Given the description of an element on the screen output the (x, y) to click on. 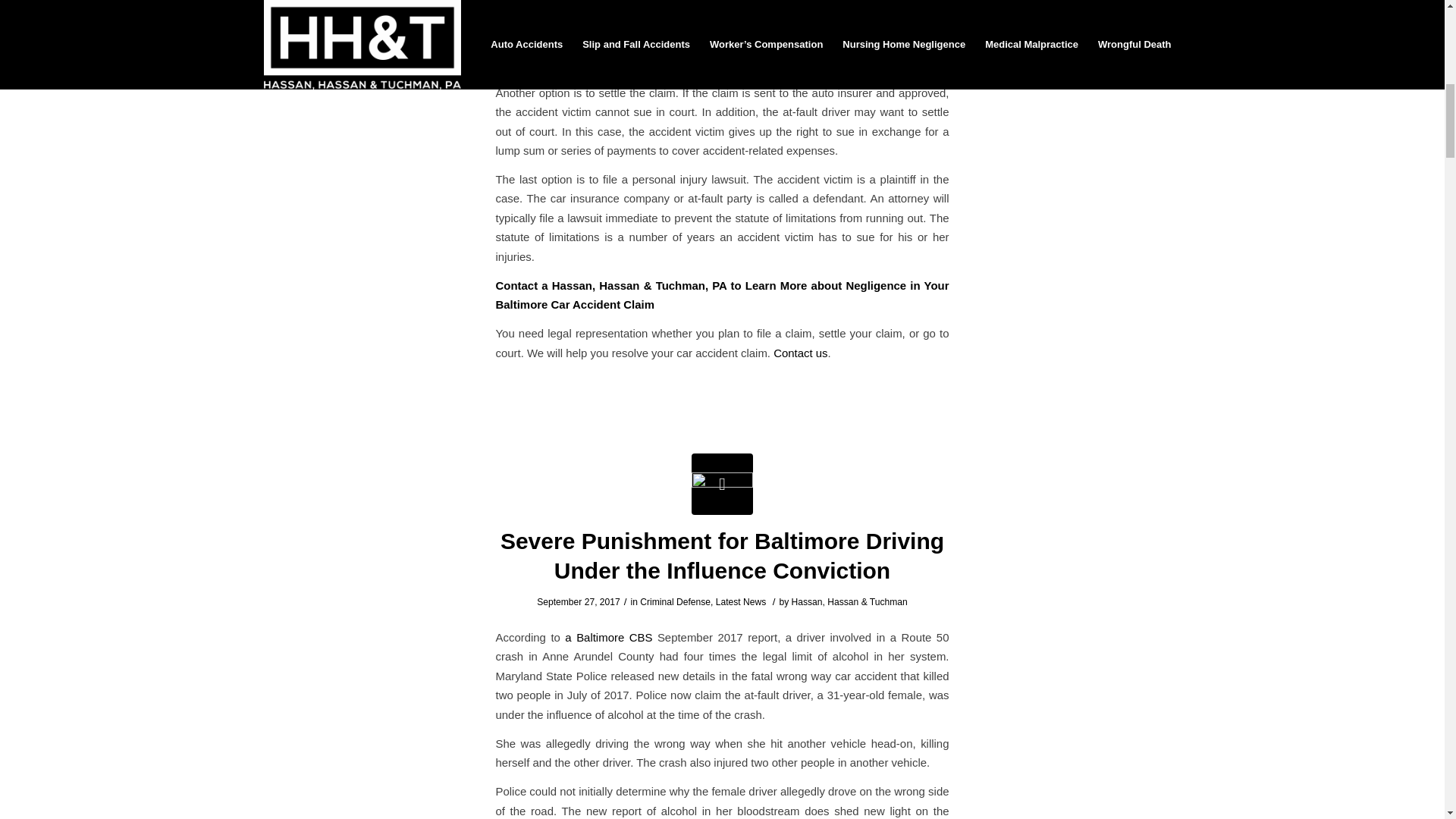
a (568, 636)
Latest News (741, 602)
Criminal Defense (675, 602)
Baltimore CBS (614, 636)
Contact us (800, 352)
